Given the description of an element on the screen output the (x, y) to click on. 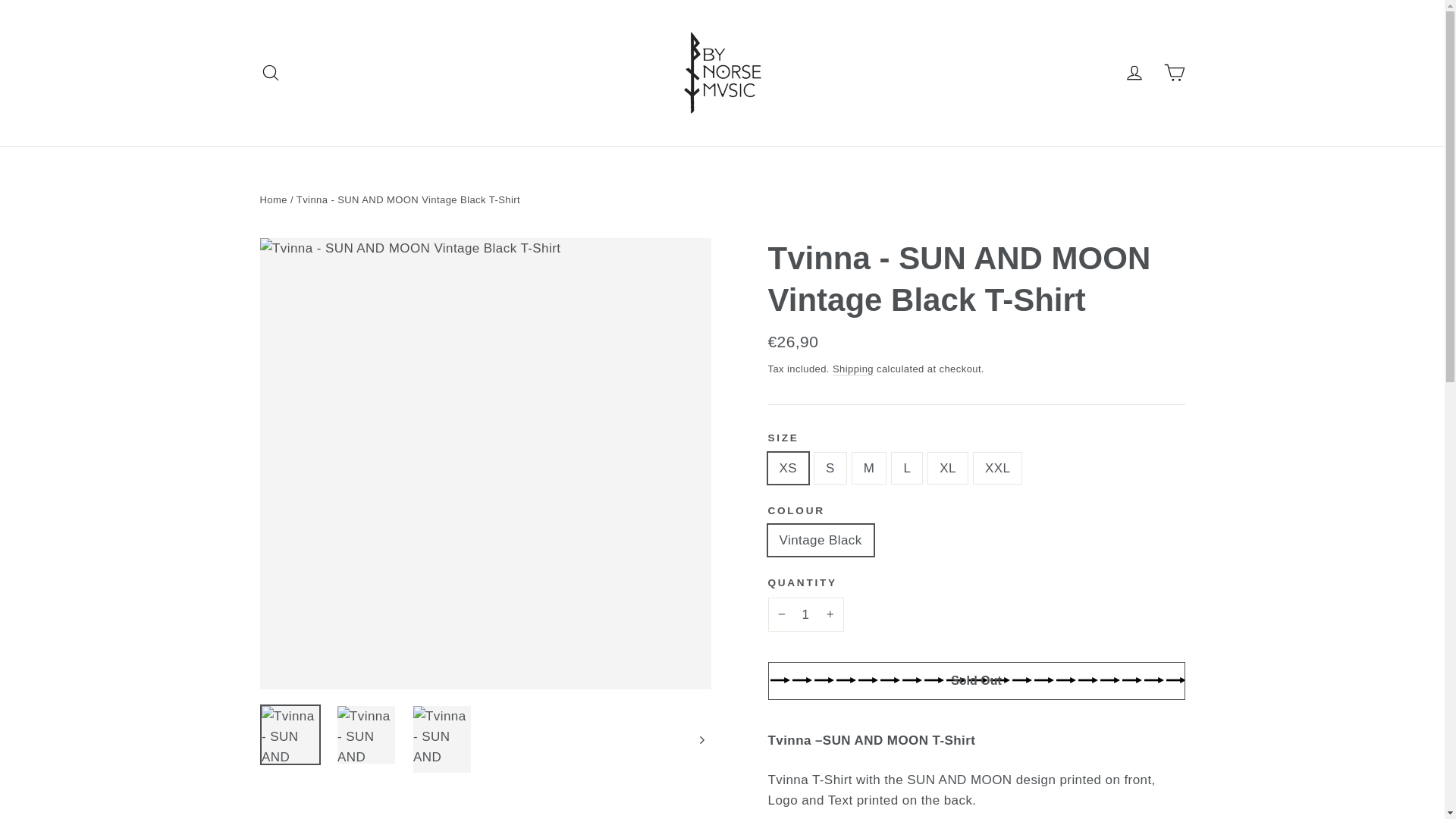
Home (272, 199)
Shipping (852, 369)
Log in (1134, 72)
Sold Out (976, 680)
Back to the frontpage (272, 199)
Cart (1173, 72)
1 (805, 614)
